Given the description of an element on the screen output the (x, y) to click on. 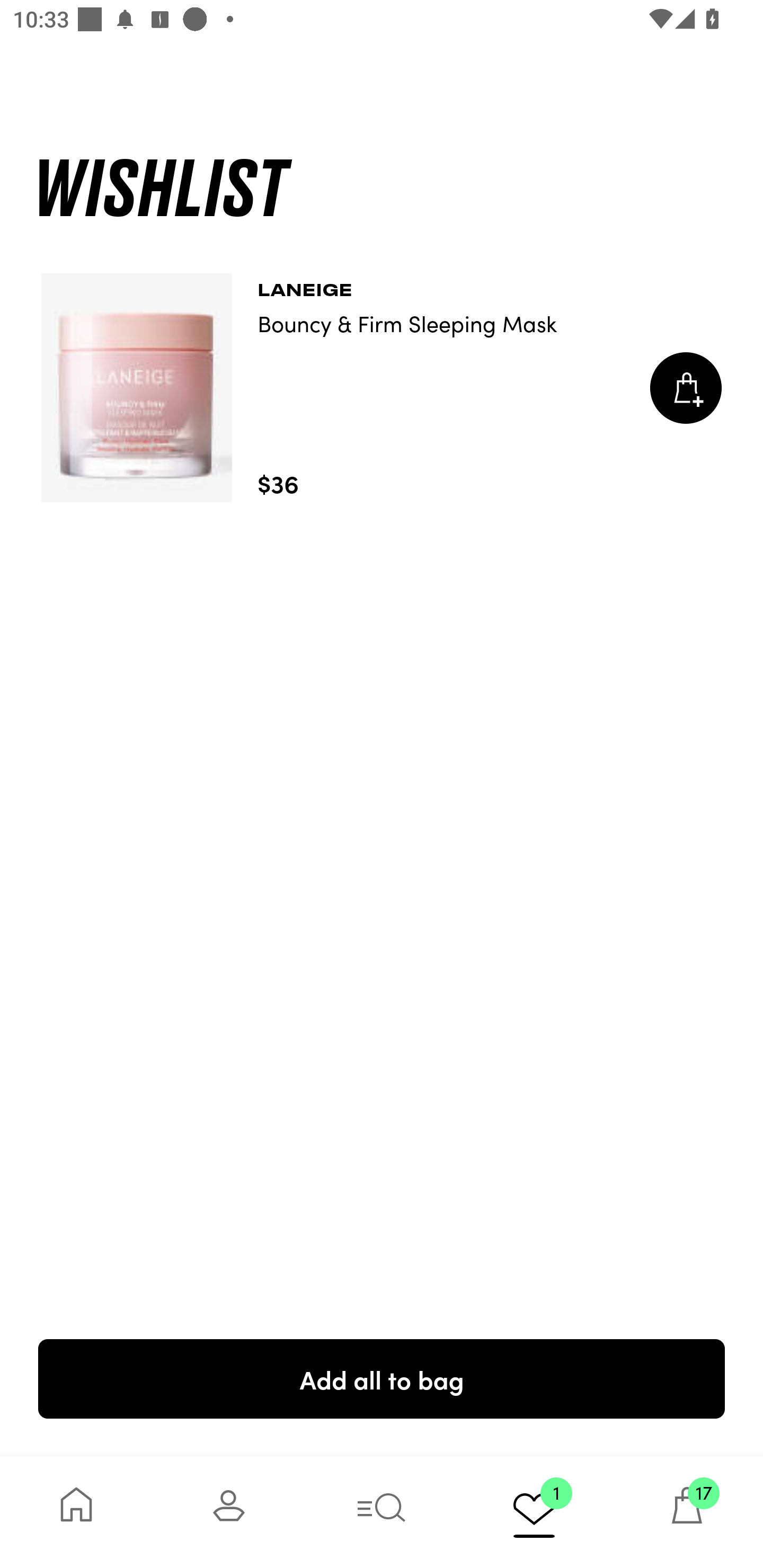
LANEIGE Bouncy & Firm Sleeping Mask $36 (381, 388)
Add all to bag (381, 1379)
1 (533, 1512)
17 (686, 1512)
